Given the description of an element on the screen output the (x, y) to click on. 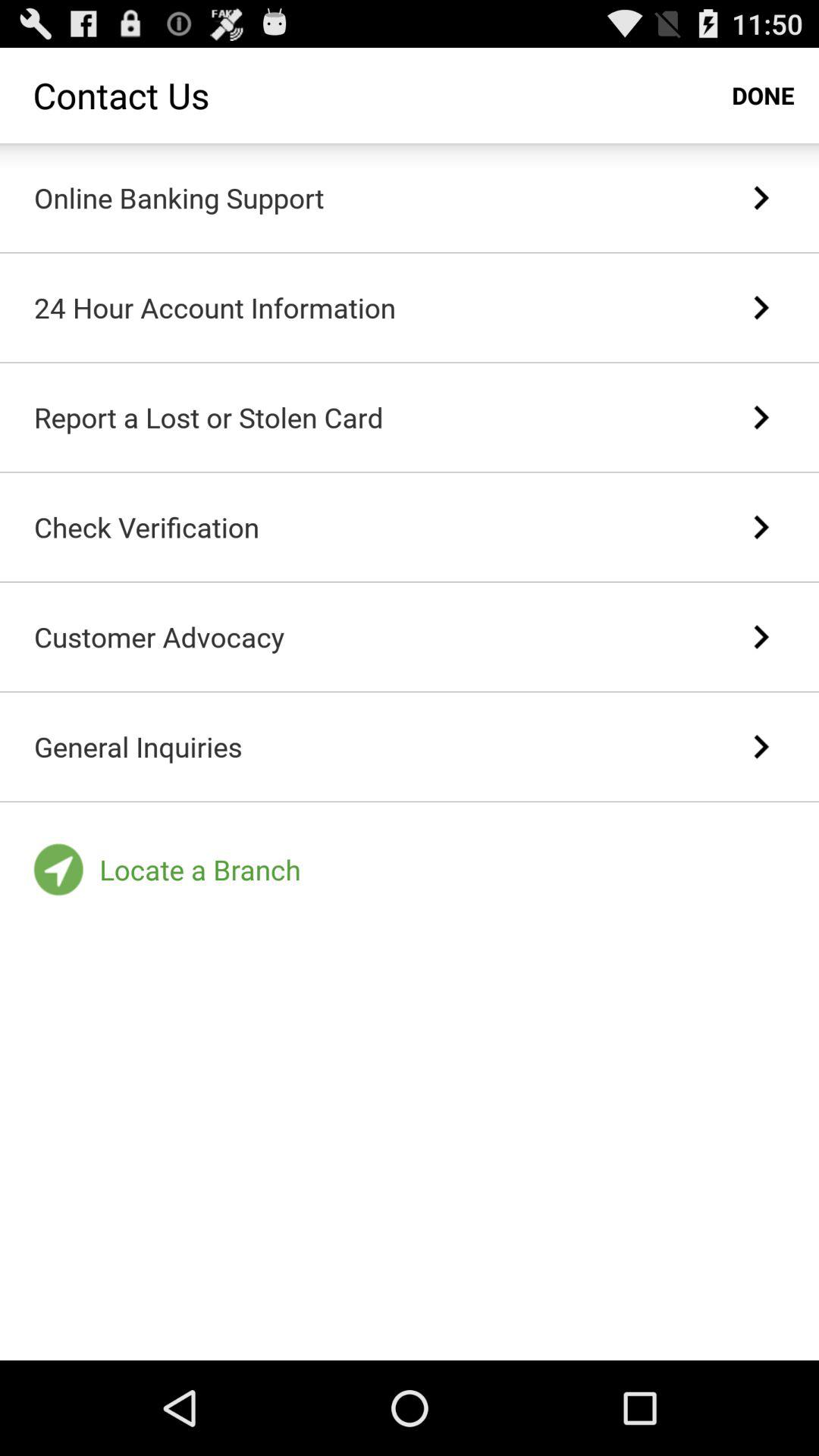
turn on the item to the right of online banking support item (760, 197)
